Given the description of an element on the screen output the (x, y) to click on. 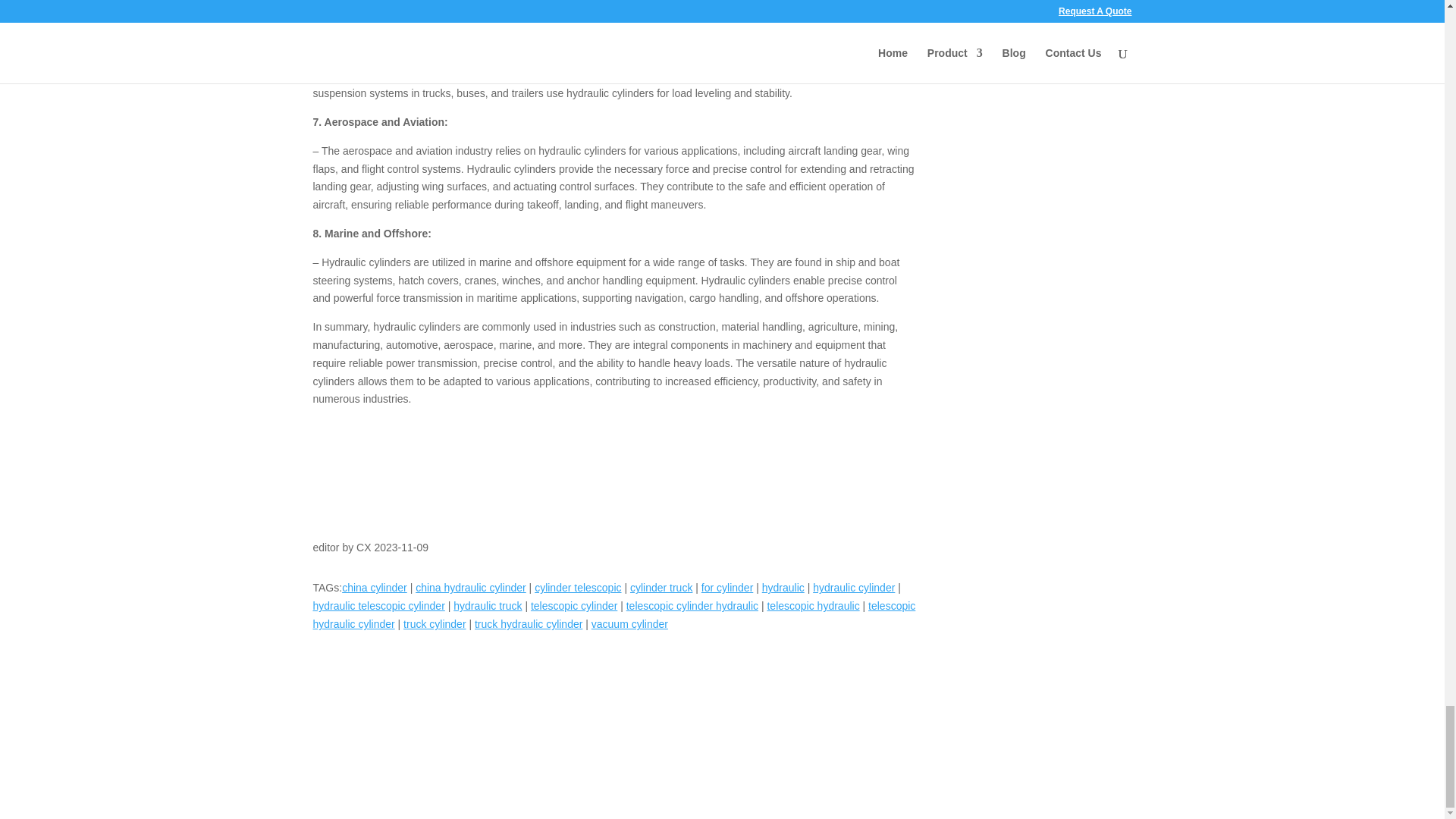
hydraulic truck (486, 605)
china hydraulic cylinder (469, 587)
hydraulic telescopic cylinder (378, 605)
truck cylinder (434, 623)
telescopic cylinder hydraulic (692, 605)
cylinder telescopic (577, 587)
telescopic cylinder (574, 605)
cylinder truck (661, 587)
china cylinder (374, 587)
vacuum cylinder (629, 623)
